Given the description of an element on the screen output the (x, y) to click on. 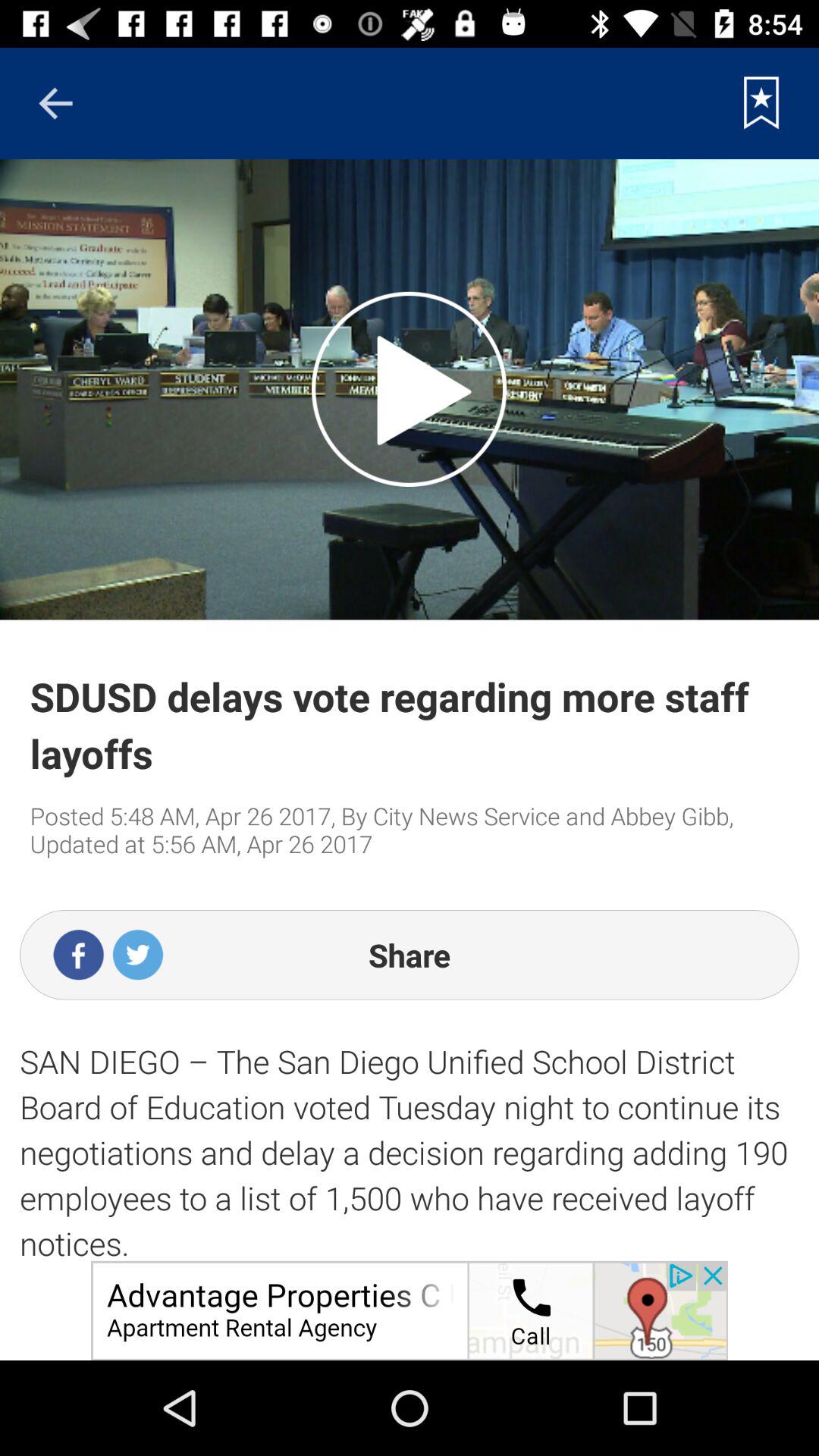
go to previous page (55, 103)
